Given the description of an element on the screen output the (x, y) to click on. 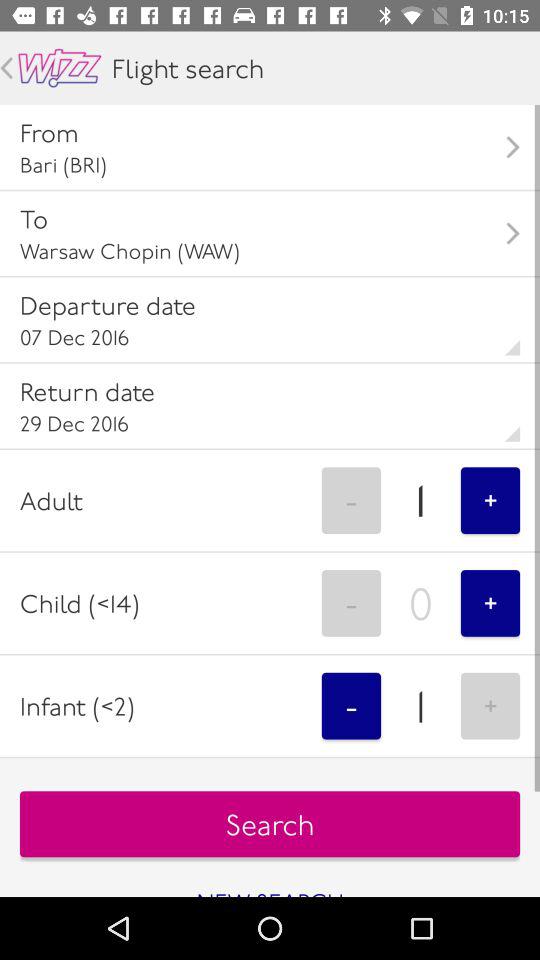
launch the + (490, 500)
